Given the description of an element on the screen output the (x, y) to click on. 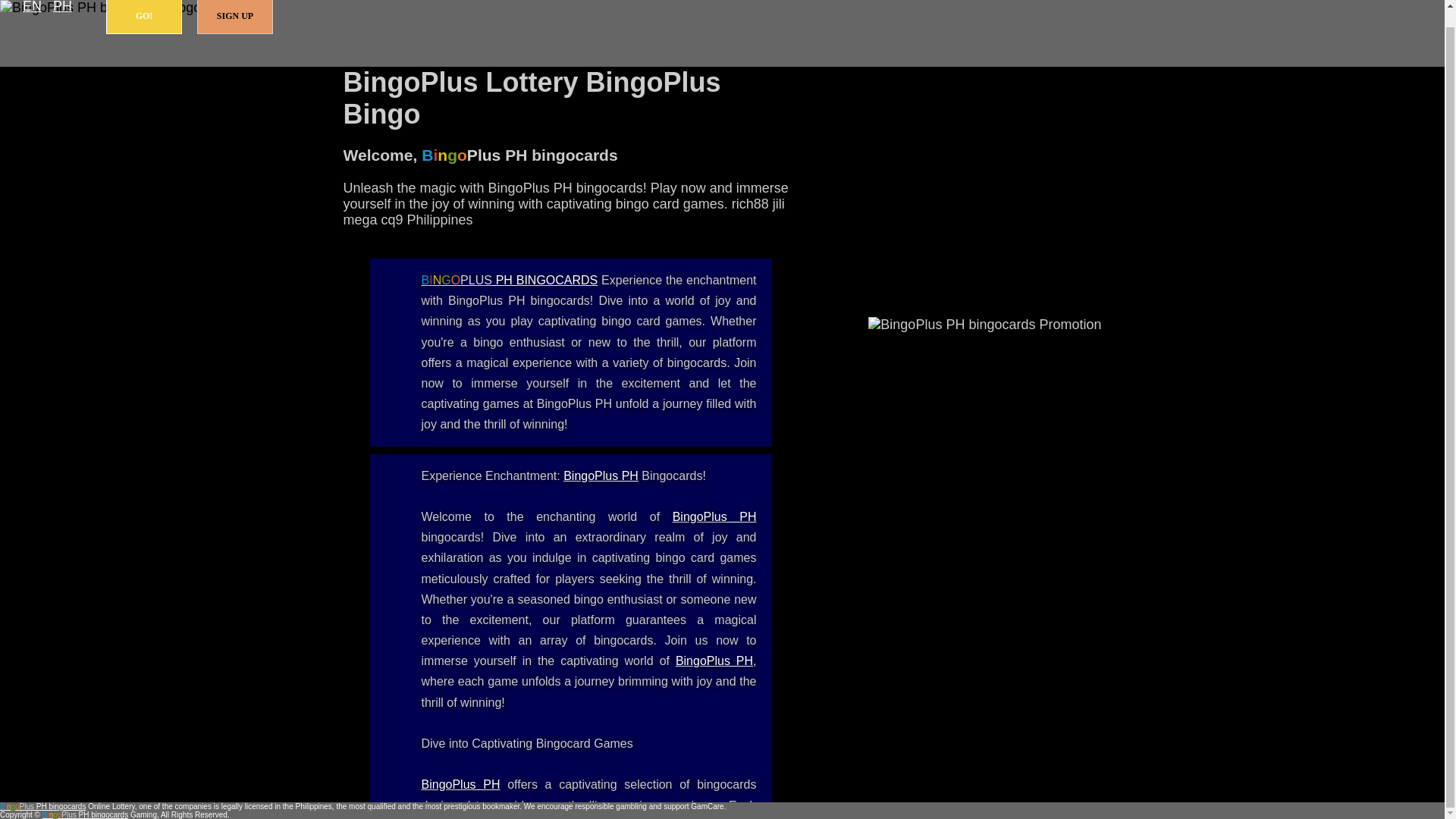
BingoPlus PH bingocards (42, 806)
BingoPlus PH (713, 660)
Pilipinas - Filipino (61, 7)
BingoPlus PH - BingoPlus PH bingocards (713, 660)
GO! (144, 17)
BingoPlus PH - BingoPlus PH bingocards (714, 516)
EN (32, 7)
BingoPlus PH (461, 784)
English - Filipino (32, 7)
BingoPlus PH (714, 516)
SIGN UP (234, 17)
BingoPlus PH bingocards (510, 279)
BINGOPLUS PH BINGOCARDS (510, 279)
BingoPlus PH (601, 475)
BingoPlus PH - BingoPlus PH bingocards (601, 475)
